Given the description of an element on the screen output the (x, y) to click on. 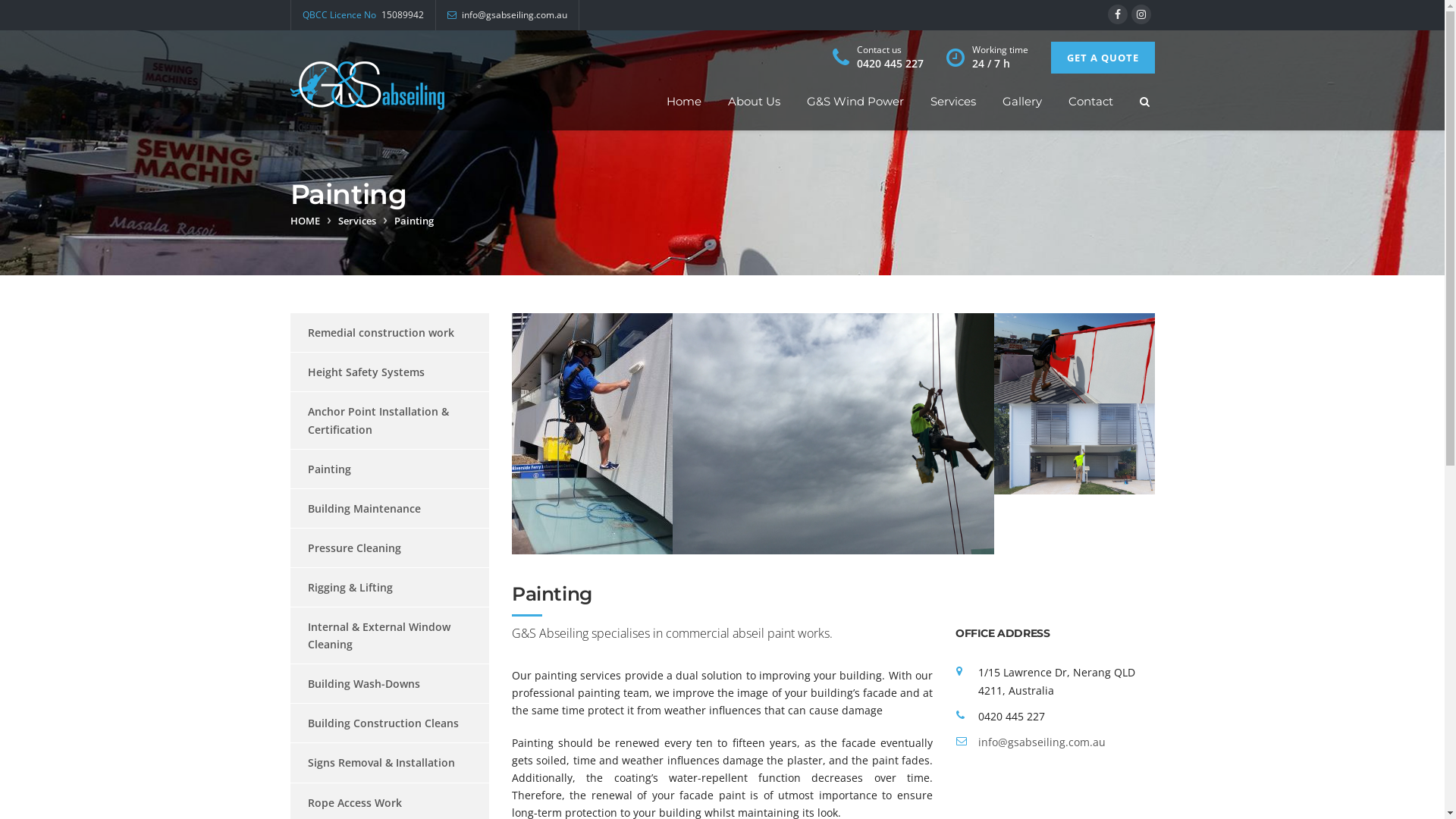
Building Construction Cleans Element type: text (373, 722)
About Us Element type: text (754, 101)
Remedial construction work Element type: text (371, 332)
Pressure Cleaning Element type: text (344, 547)
Signs Removal & Installation Element type: text (371, 762)
Home Element type: text (682, 101)
GET A QUOTE Element type: text (1102, 57)
Gallery Element type: text (1021, 101)
Building Maintenance Element type: text (354, 508)
Internal & External Window Cleaning Element type: text (382, 635)
Rigging & Lifting Element type: text (340, 586)
Services Element type: text (357, 220)
Building Wash-Downs Element type: text (354, 683)
Height Safety Systems Element type: text (356, 371)
G&S Wind Power Element type: text (854, 101)
Services Element type: text (952, 101)
Contact Element type: text (1089, 101)
Painting Element type: text (319, 468)
Anchor Point Installation & Certification Element type: text (382, 420)
HOME Element type: text (304, 220)
Facebook Element type: hover (1116, 14)
info@gsabseiling.com.au Element type: text (1041, 741)
12322885_1616314275355663_433327473483480176_o Element type: hover (591, 433)
G&S Abseiling Element type: hover (366, 80)
Instagram Element type: hover (1141, 14)
